Given the description of an element on the screen output the (x, y) to click on. 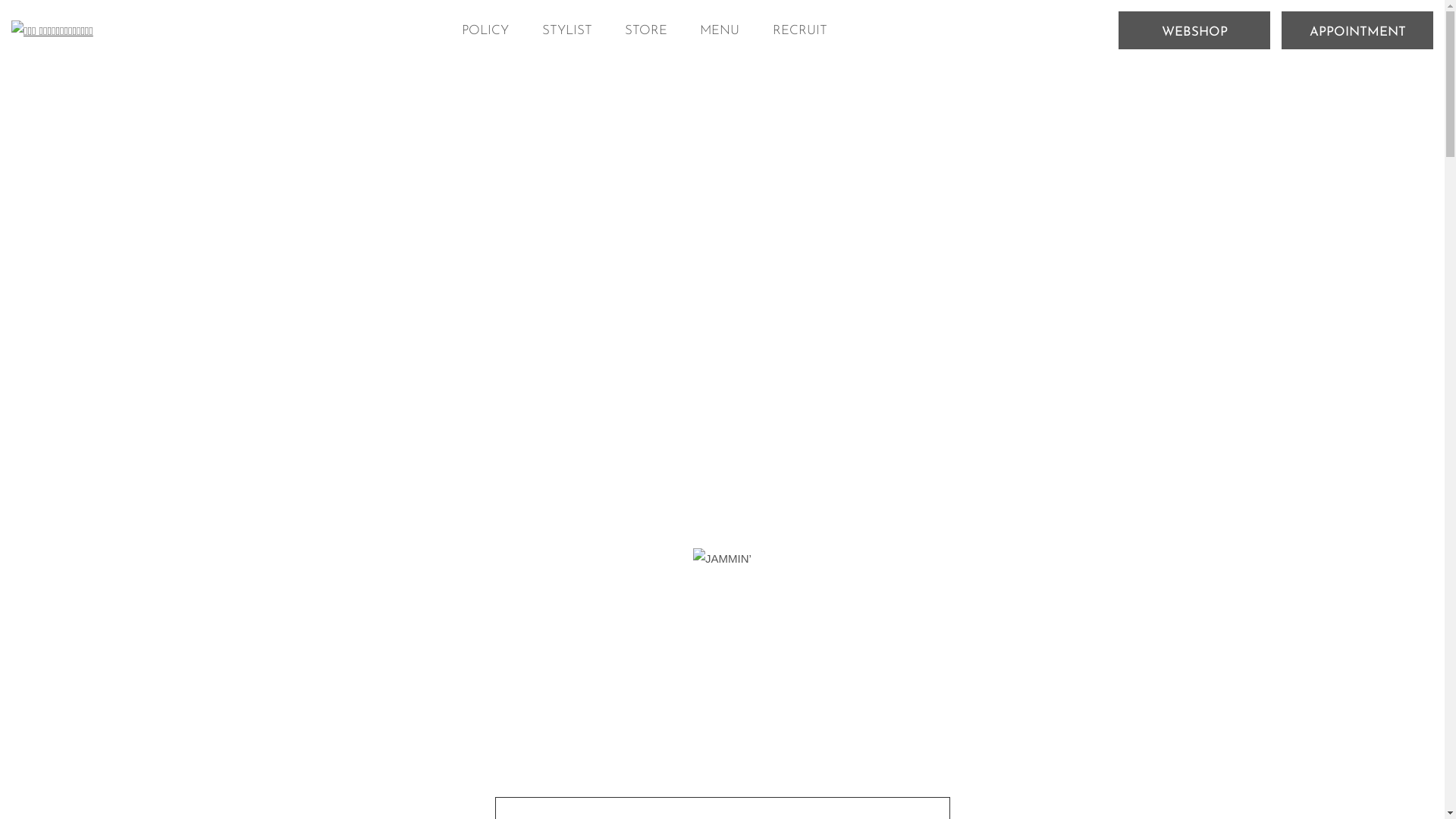
STORE Element type: text (645, 30)
POLICY Element type: text (484, 30)
WEBSHOP Element type: text (1194, 30)
APPOINTMENT Element type: text (1357, 30)
RECRUIT Element type: text (799, 30)
STYLIST Element type: text (567, 30)
